Given the description of an element on the screen output the (x, y) to click on. 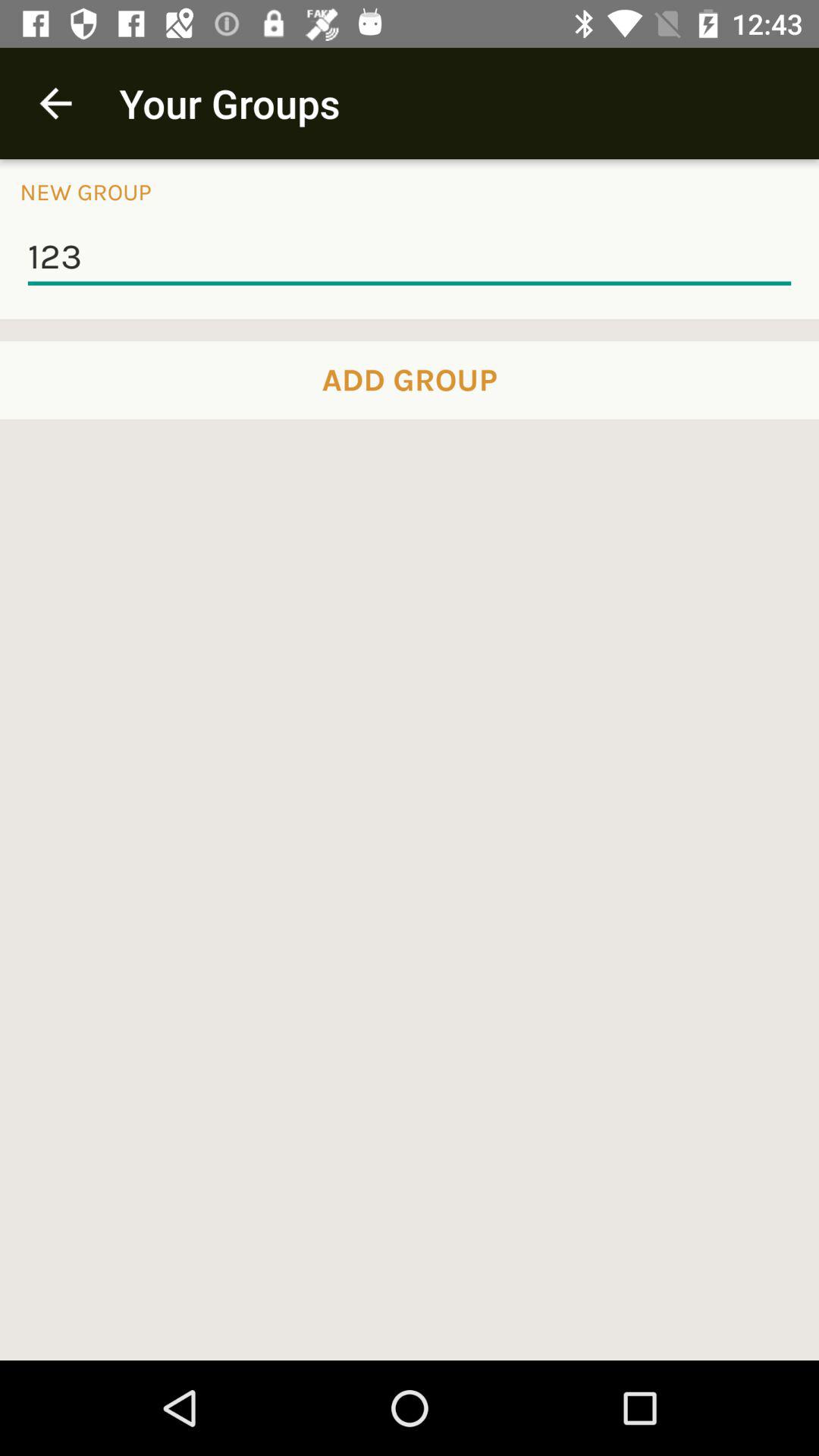
scroll to add group (409, 380)
